Given the description of an element on the screen output the (x, y) to click on. 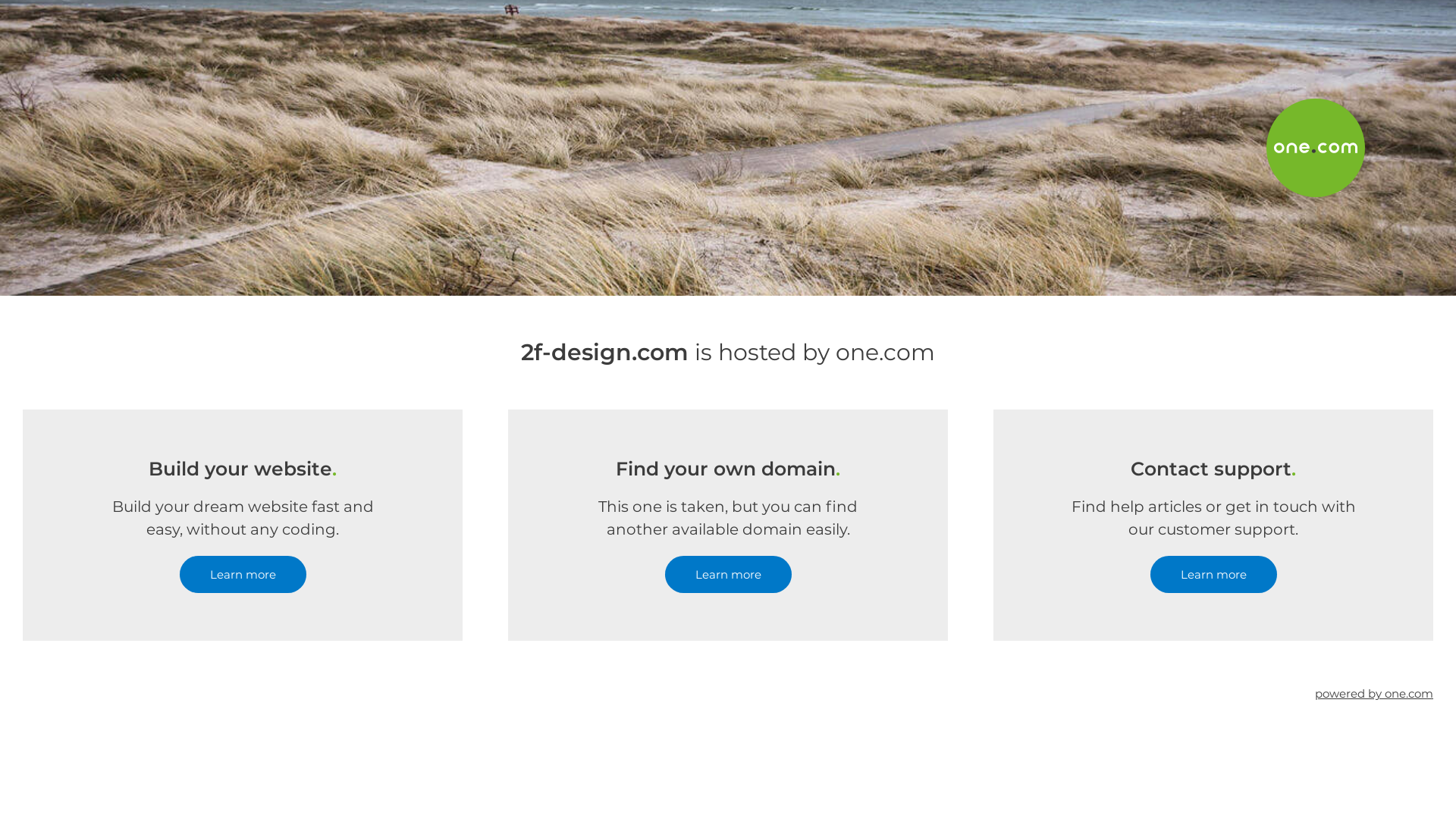
Learn more Element type: text (727, 574)
powered by one.com Element type: text (1373, 693)
Learn more Element type: text (241, 574)
Learn more Element type: text (1212, 574)
